Given the description of an element on the screen output the (x, y) to click on. 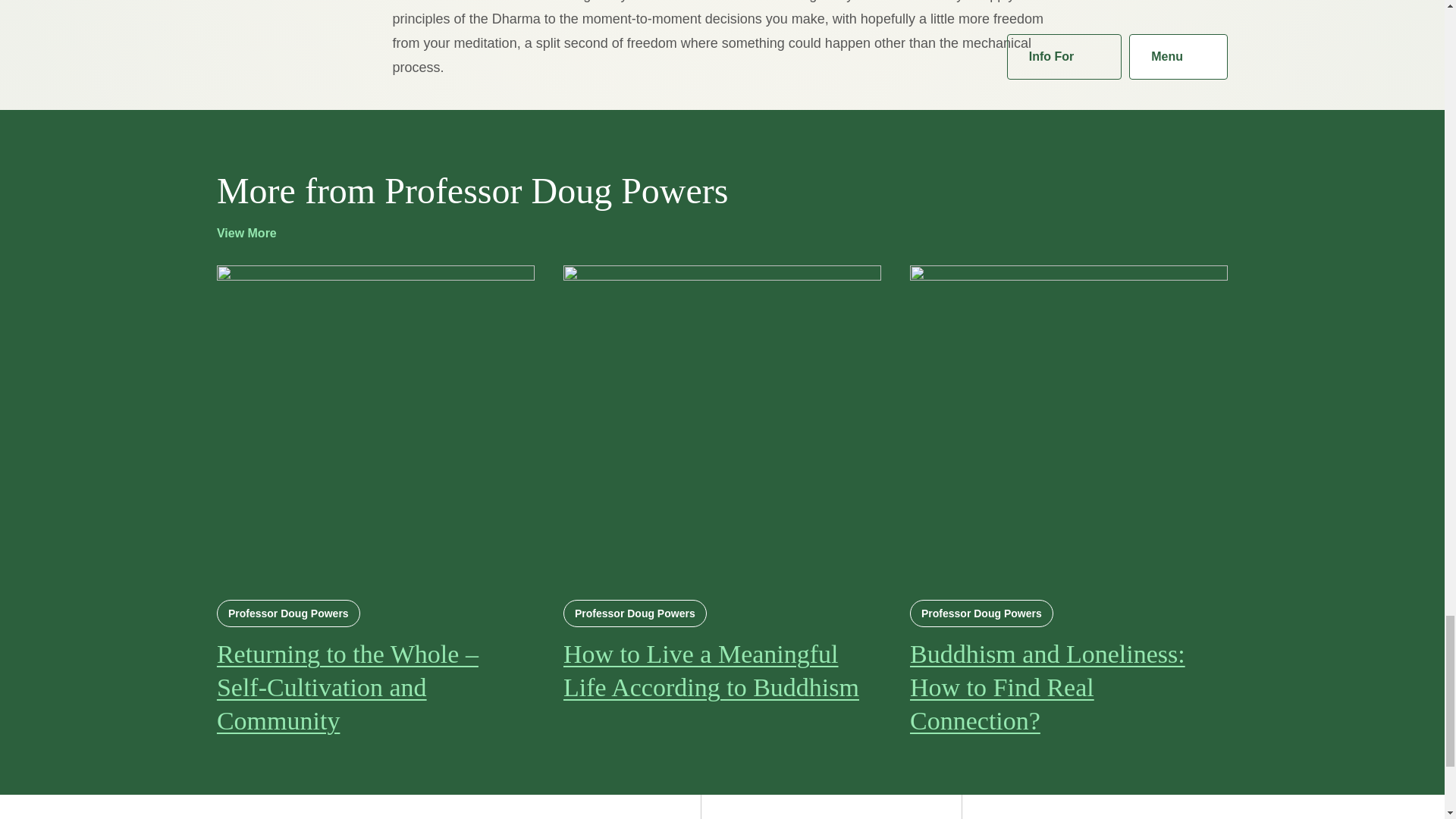
Buddhism and Loneliness: How to Find Real Connection? (1068, 687)
Professor Doug Powers (634, 613)
How to Live a Meaningful Life According to Buddhism (721, 671)
Professor Doug Powers (287, 613)
Professor Doug Powers (981, 613)
View More (257, 233)
